Given the description of an element on the screen output the (x, y) to click on. 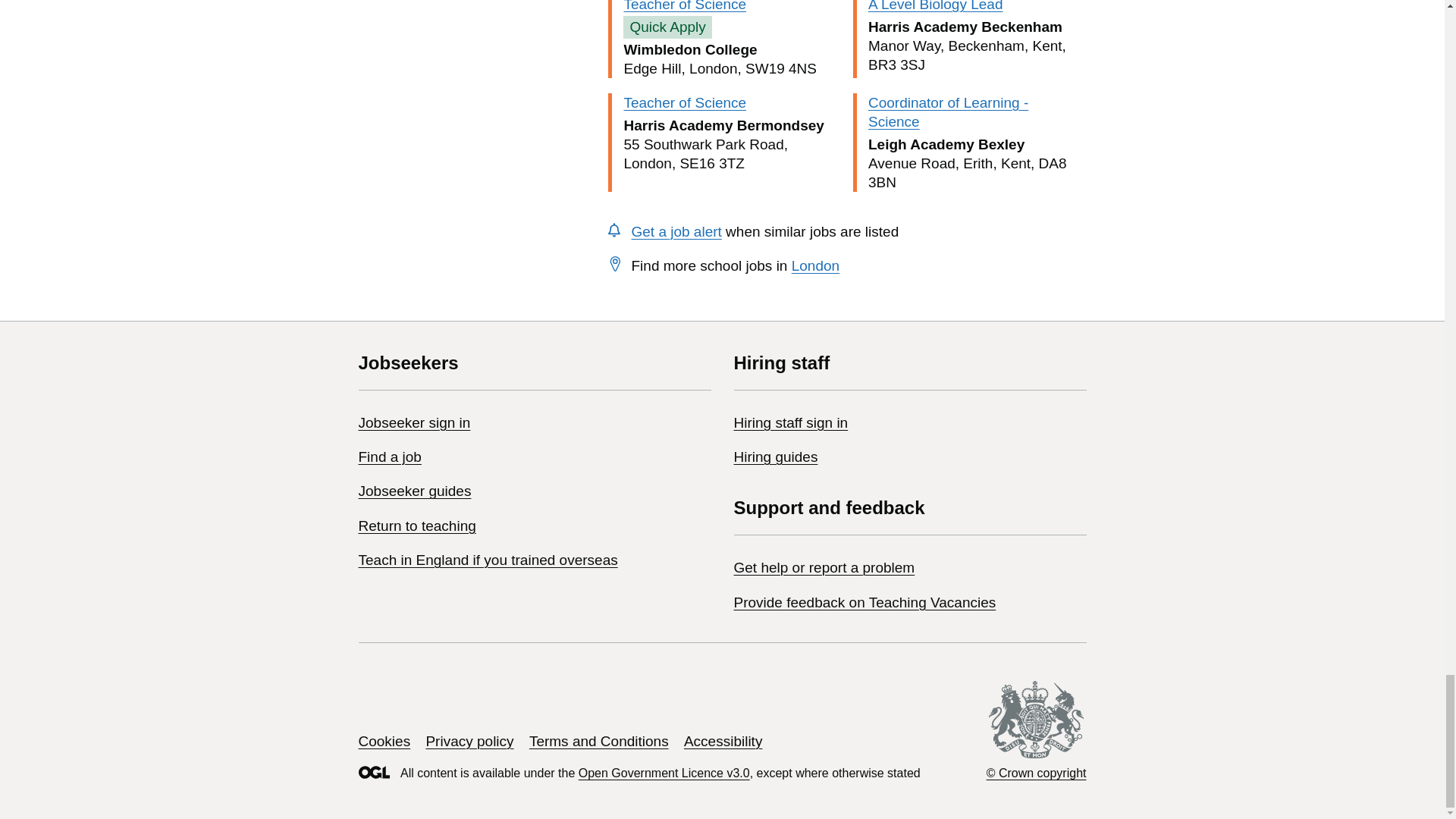
London (816, 265)
Find a job (389, 456)
Teacher of Science (684, 102)
Return to teaching (417, 525)
Coordinator of Learning - Science (947, 112)
Jobseeker guides (414, 490)
A Level Biology Lead (935, 6)
Get a job alert (675, 231)
Teacher of Science (684, 6)
Jobseeker sign in (414, 422)
